Given the description of an element on the screen output the (x, y) to click on. 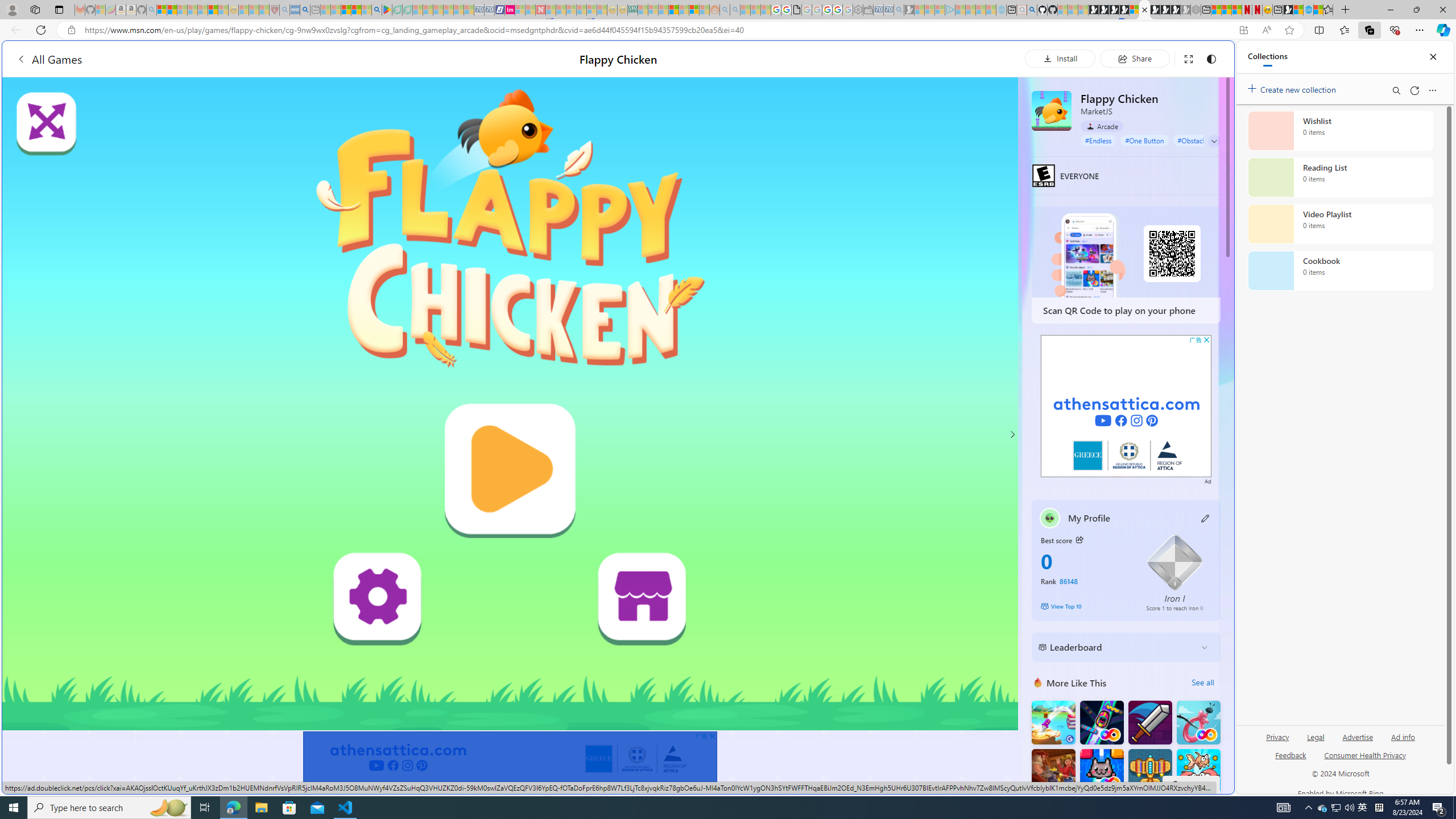
App available. Install Flappy Chicken (1243, 29)
""'s avatar (1049, 518)
Advertisement (1126, 405)
Advertisement (1126, 405)
